Given the description of an element on the screen output the (x, y) to click on. 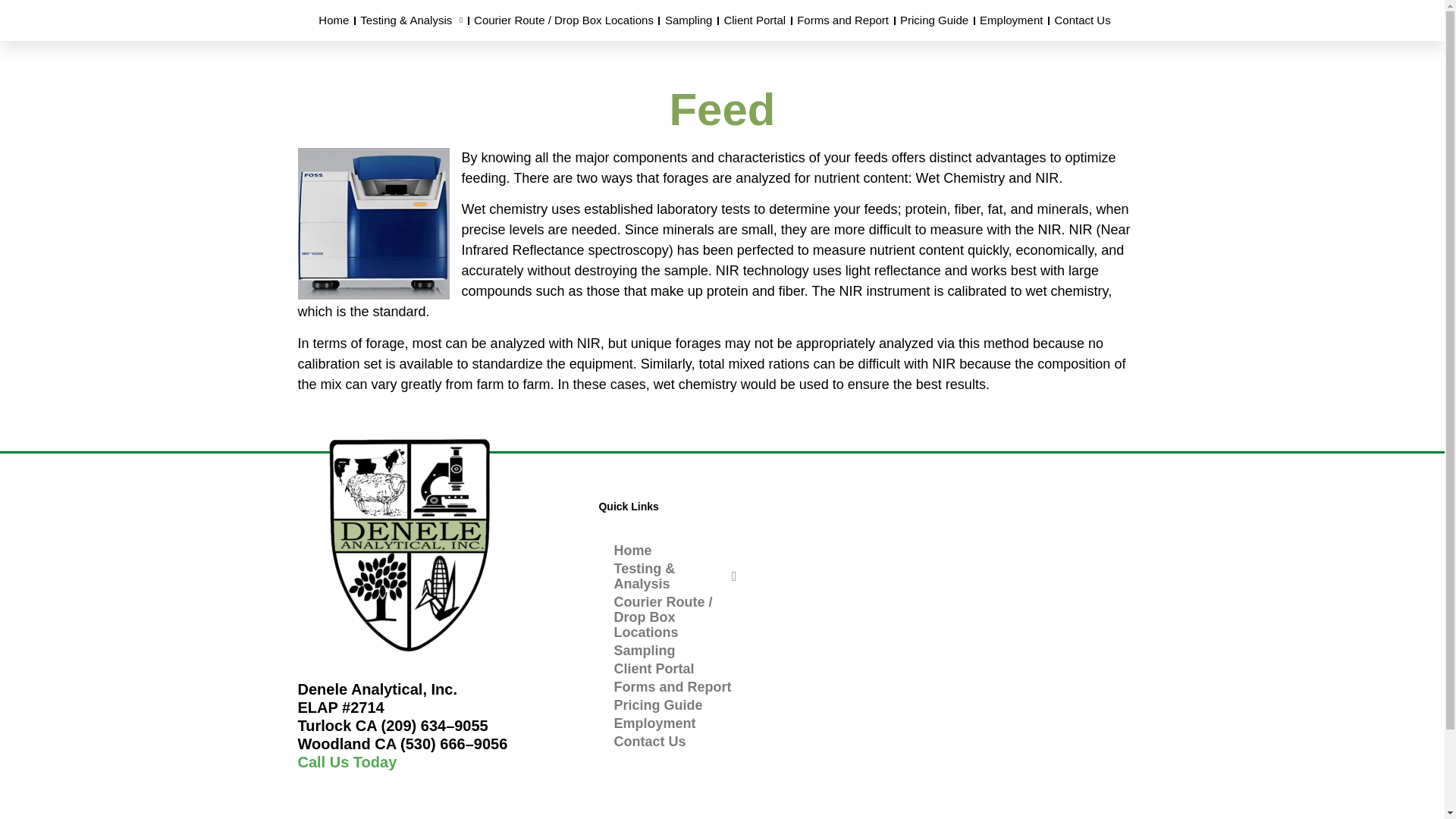
Home (332, 20)
Home (674, 550)
Pricing Guide (934, 20)
Contact Us (1081, 20)
Employment (1010, 20)
Client Portal (753, 20)
Sampling (688, 20)
Forms and Report (842, 20)
